Given the description of an element on the screen output the (x, y) to click on. 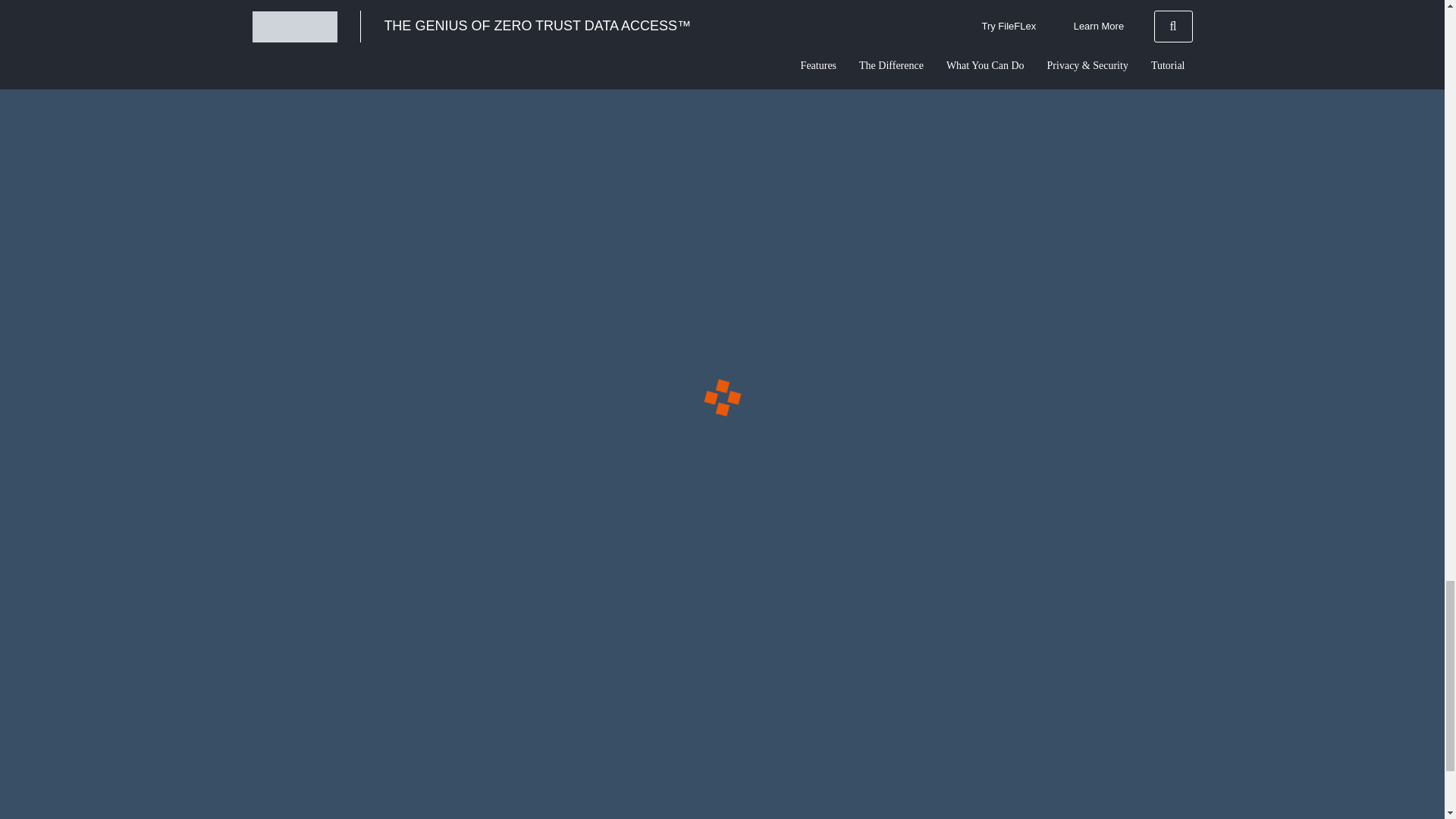
What You Can Do Using FileFlex With Your Drobo (414, 77)
